Given the description of an element on the screen output the (x, y) to click on. 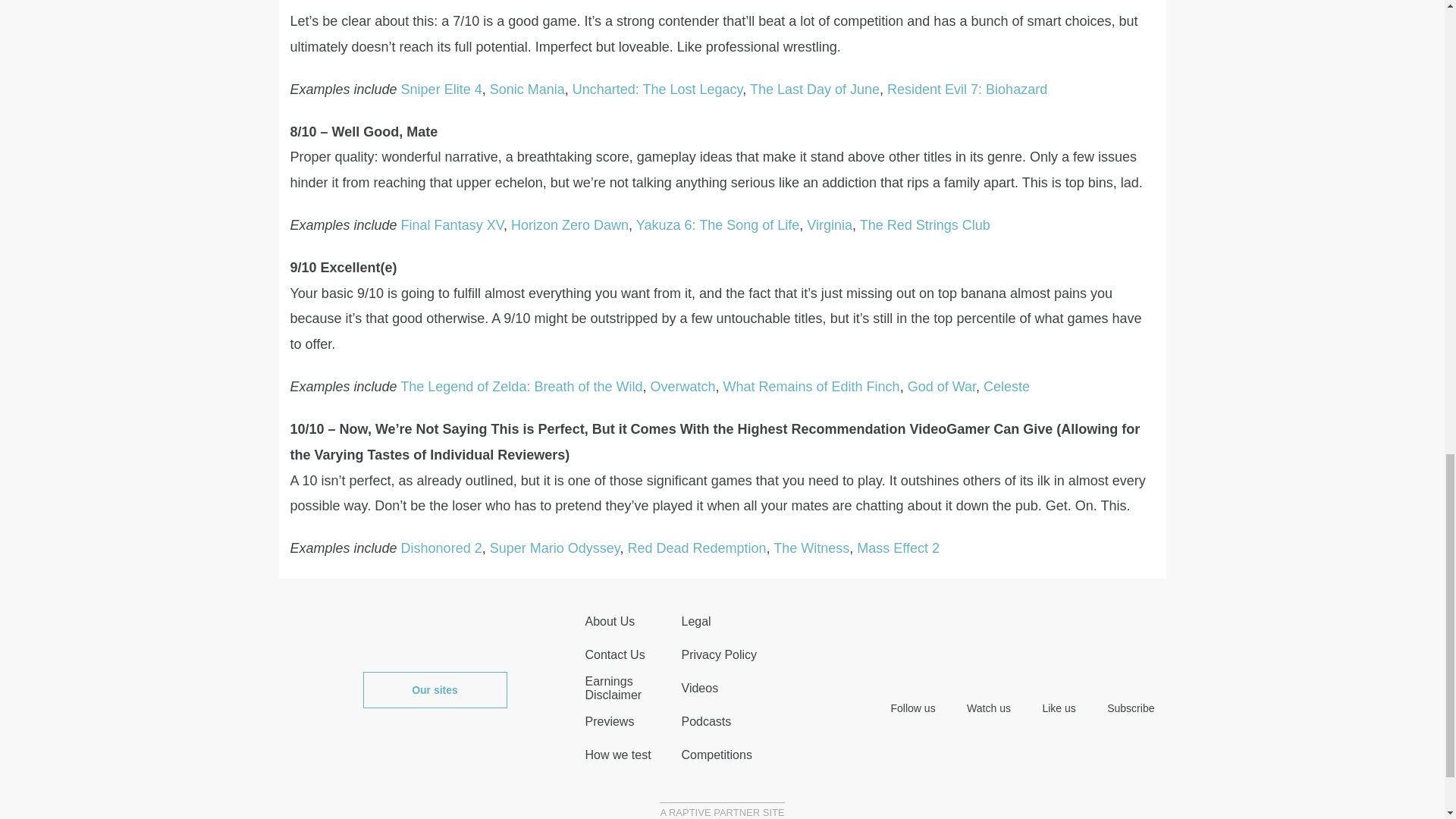
Legal (695, 621)
Sniper Elite 4 (441, 89)
Staff (609, 621)
